Given the description of an element on the screen output the (x, y) to click on. 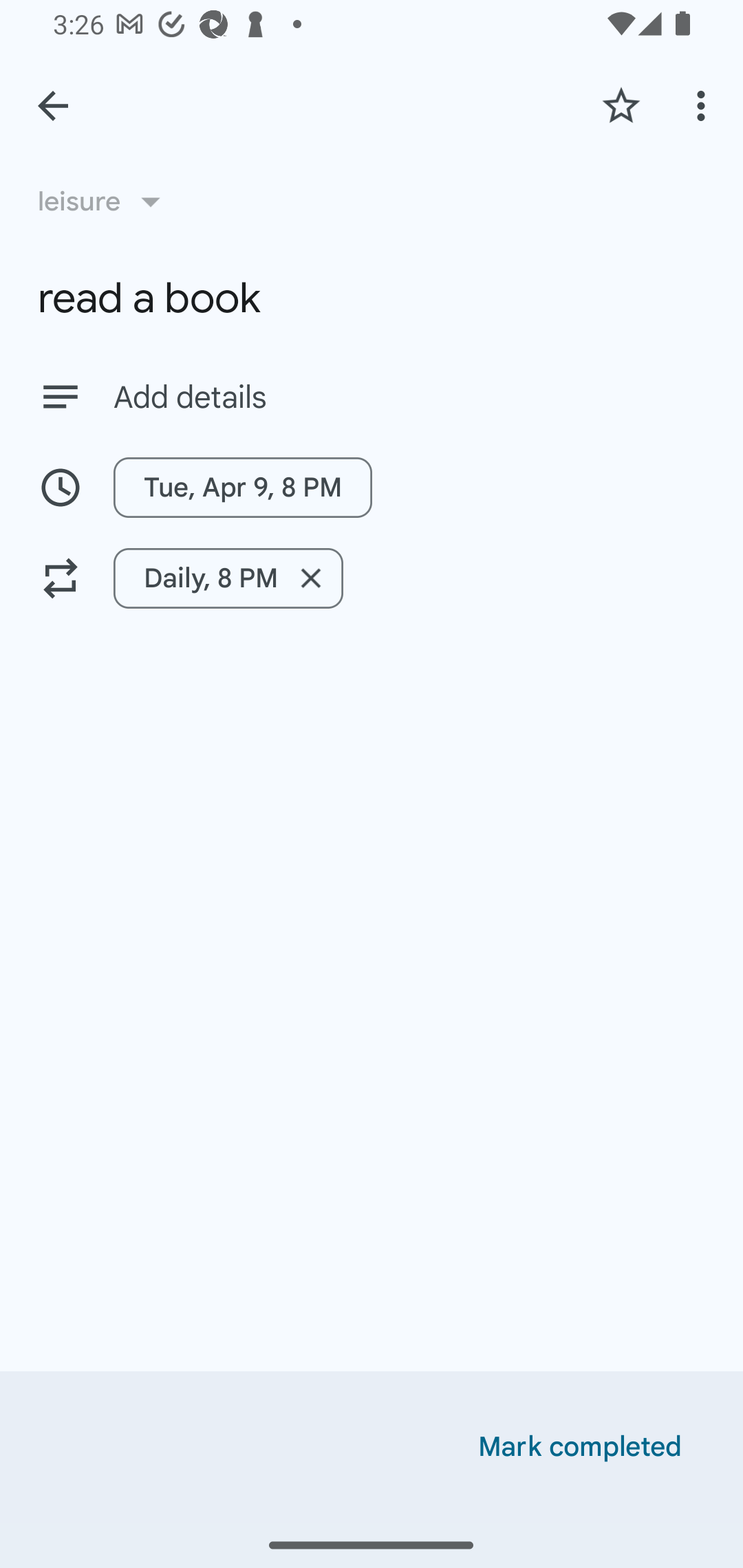
Back (53, 105)
Add star (620, 105)
More options (704, 105)
leisure List, leisure selected, 1 of 18 (105, 201)
read a book (371, 298)
Add details (371, 396)
Add details (409, 397)
Tue, Apr 9, 8 PM (371, 487)
Tue, Apr 9, 8 PM (242, 487)
Daily, 8 PM End repeating (371, 578)
Daily, 8 PM End repeating (228, 578)
Mark completed (580, 1446)
